Given the description of an element on the screen output the (x, y) to click on. 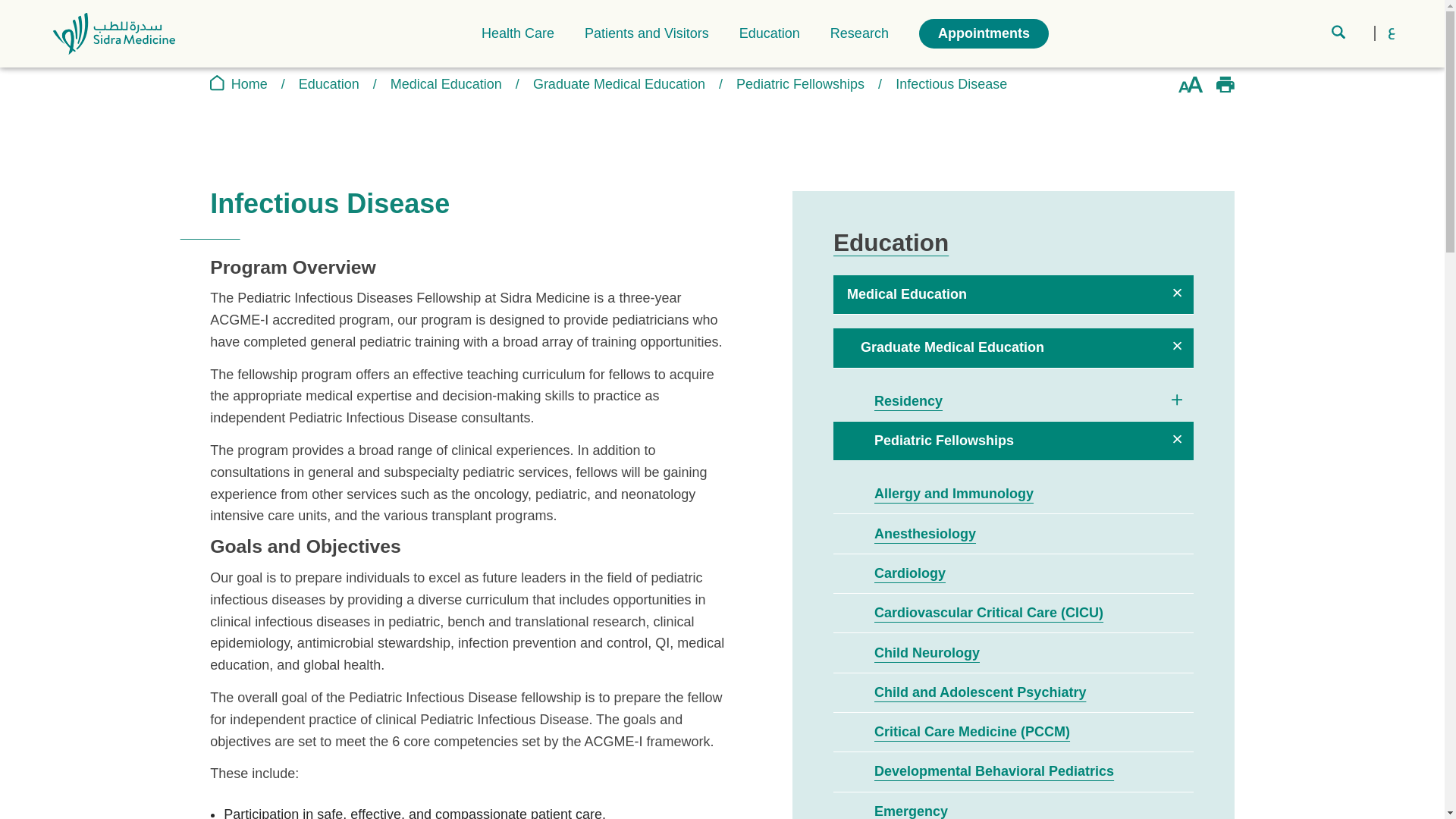
Education (769, 33)
Research (858, 33)
Health Care (517, 33)
Appointments (983, 33)
Patients and Visitors (647, 33)
